Given the description of an element on the screen output the (x, y) to click on. 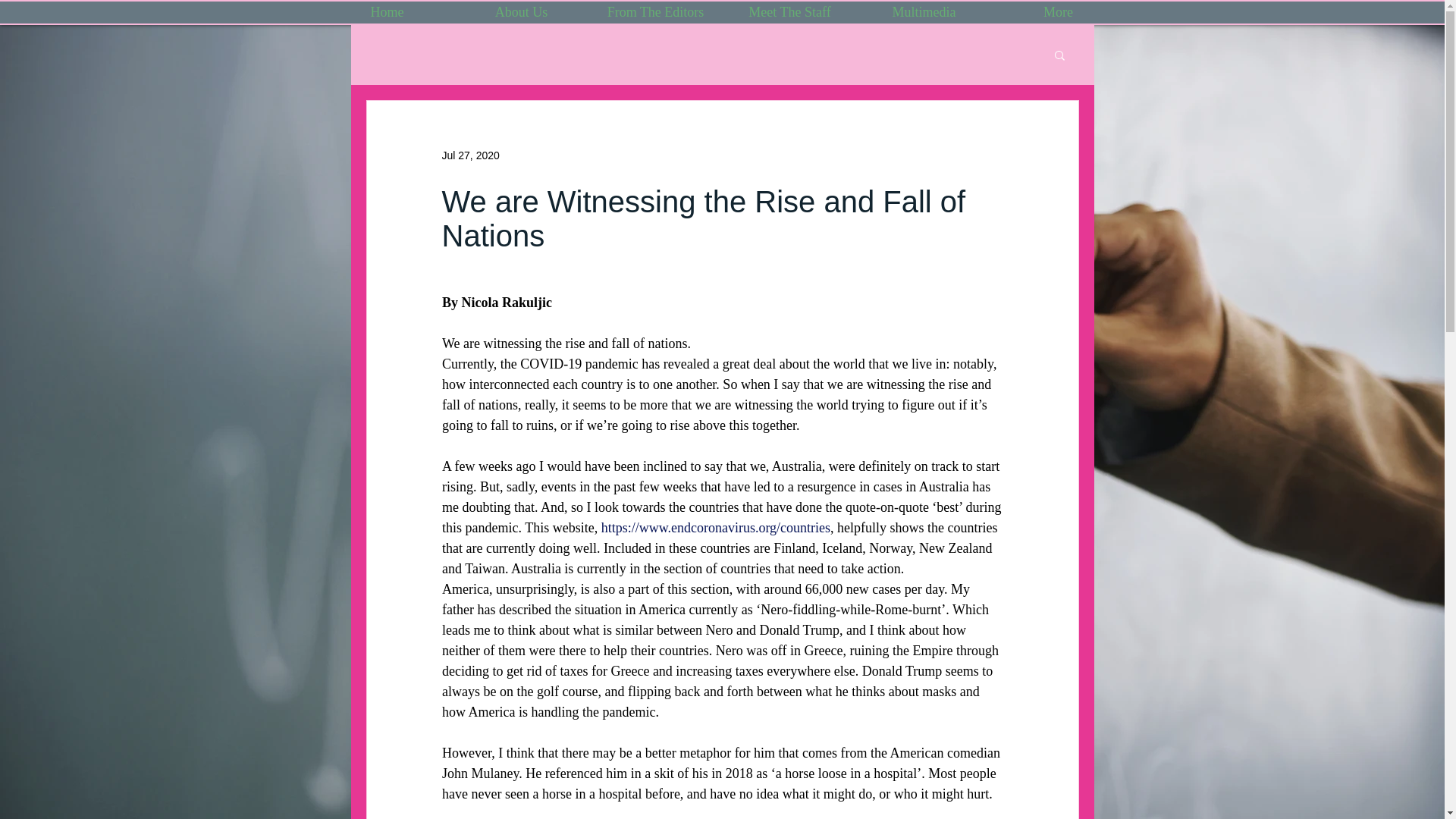
Home (387, 12)
Jul 27, 2020 (470, 154)
About Us (521, 12)
Meet The Staff (789, 12)
Multimedia (924, 12)
From The Editors (655, 12)
